Given the description of an element on the screen output the (x, y) to click on. 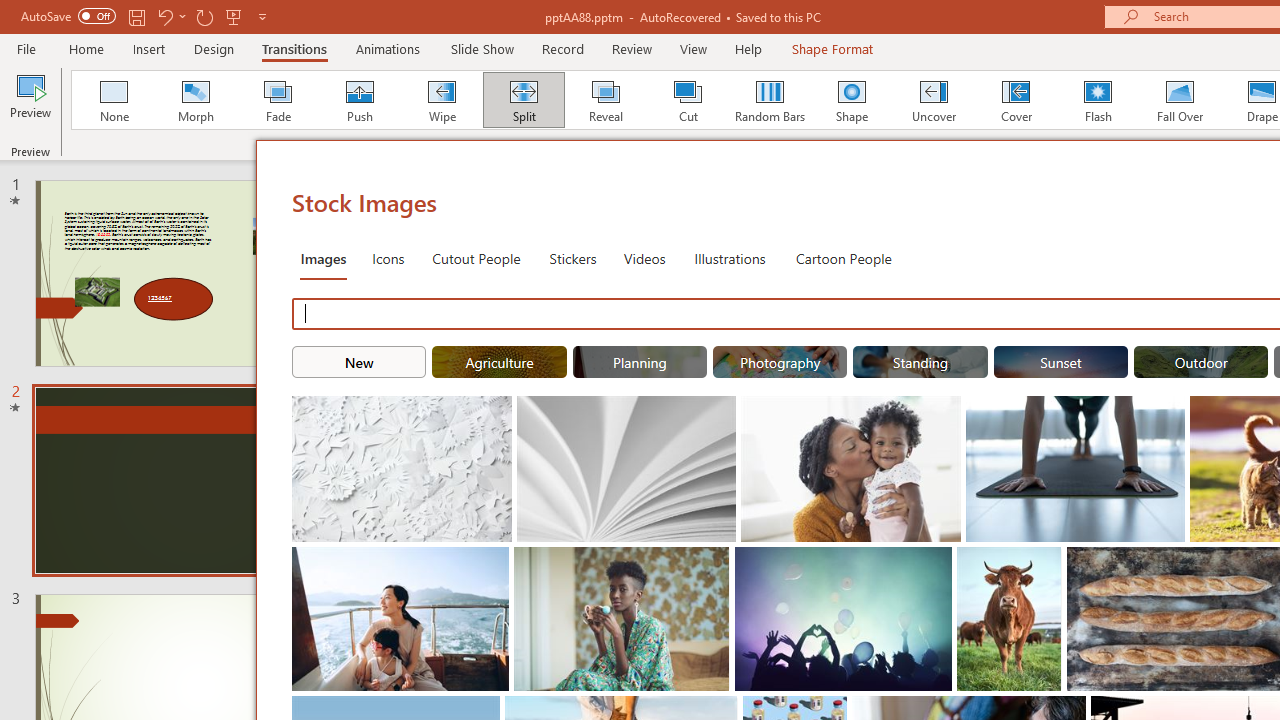
Illustrations (729, 258)
Cartoon People (843, 258)
"Standing" Stock Images. (920, 362)
Reveal (605, 100)
